Given the description of an element on the screen output the (x, y) to click on. 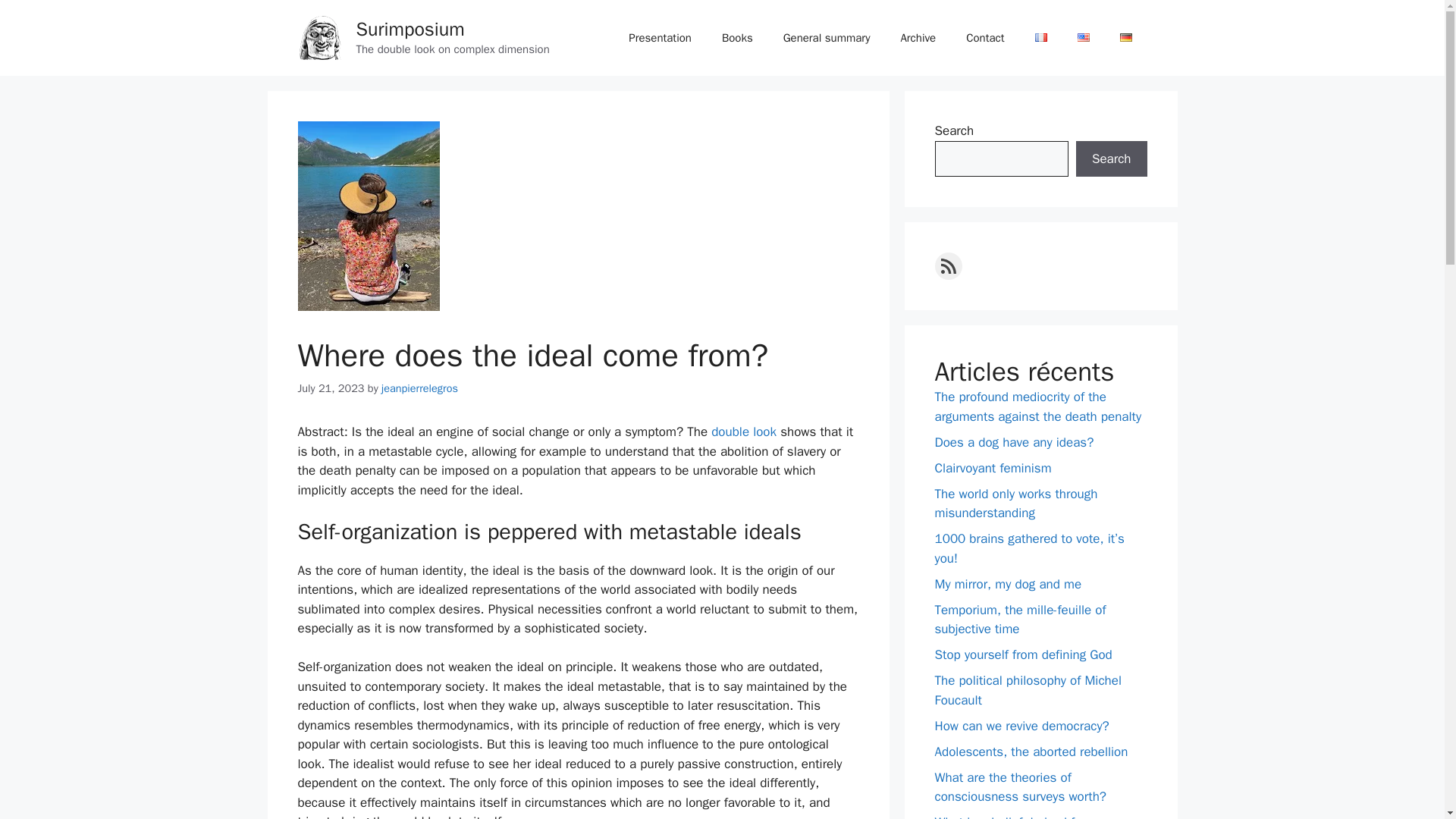
Adolescents, the aborted rebellion (1030, 750)
How can we revive democracy? (1021, 725)
Contact (984, 37)
View all posts by jeanpierrelegros (419, 387)
What is a belief derived from science? (1015, 816)
double look (743, 431)
Surimposium (410, 28)
Books (737, 37)
Clairvoyant feminism (992, 467)
jeanpierrelegros (419, 387)
